Given the description of an element on the screen output the (x, y) to click on. 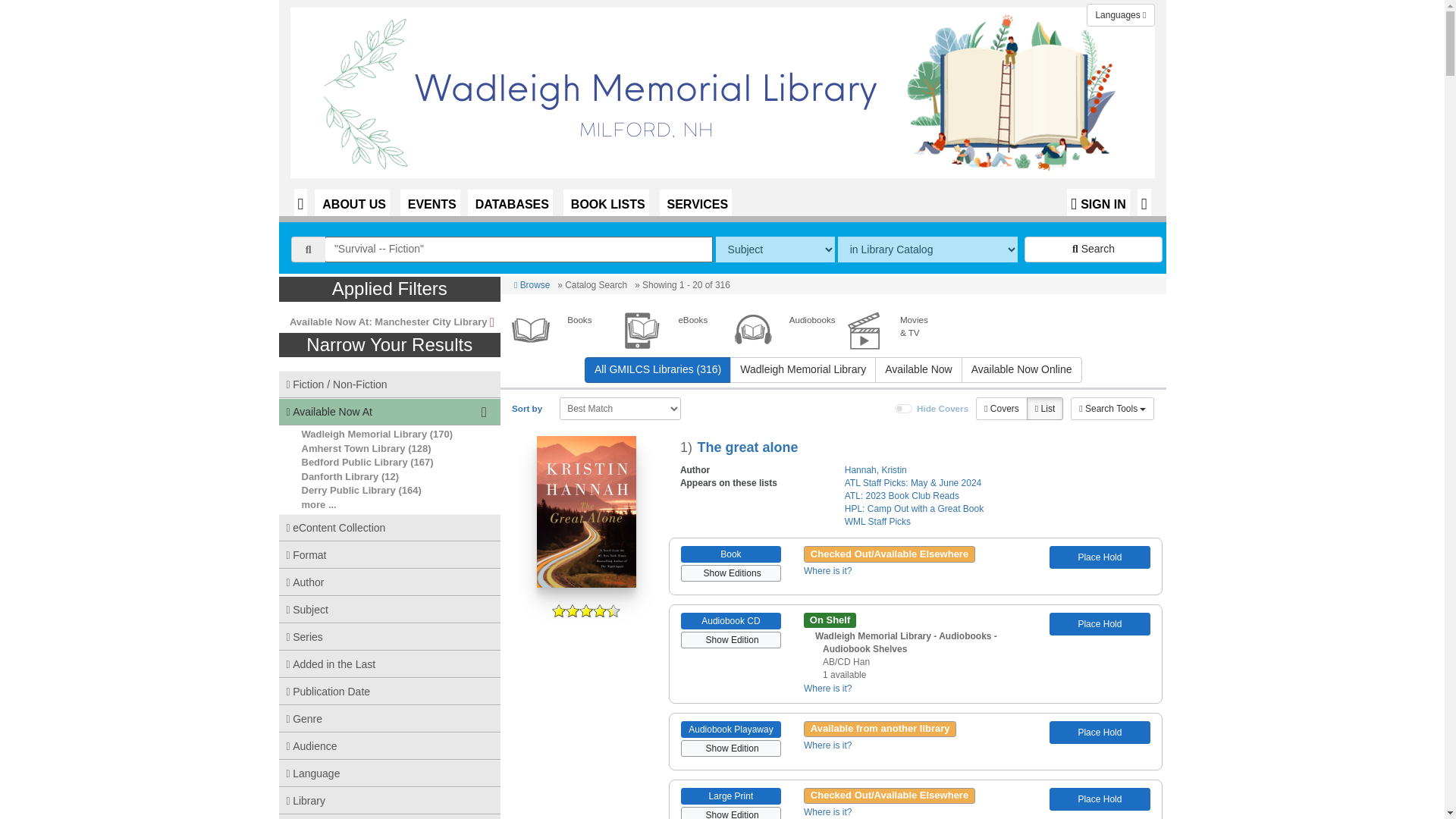
on (903, 408)
ABOUT US (352, 202)
Browse the Catalog (300, 202)
DATABASES (510, 202)
EVENTS (430, 202)
Languages  (1120, 15)
BOOK LISTS (606, 202)
"Survival -- Fiction" (518, 249)
